Given the description of an element on the screen output the (x, y) to click on. 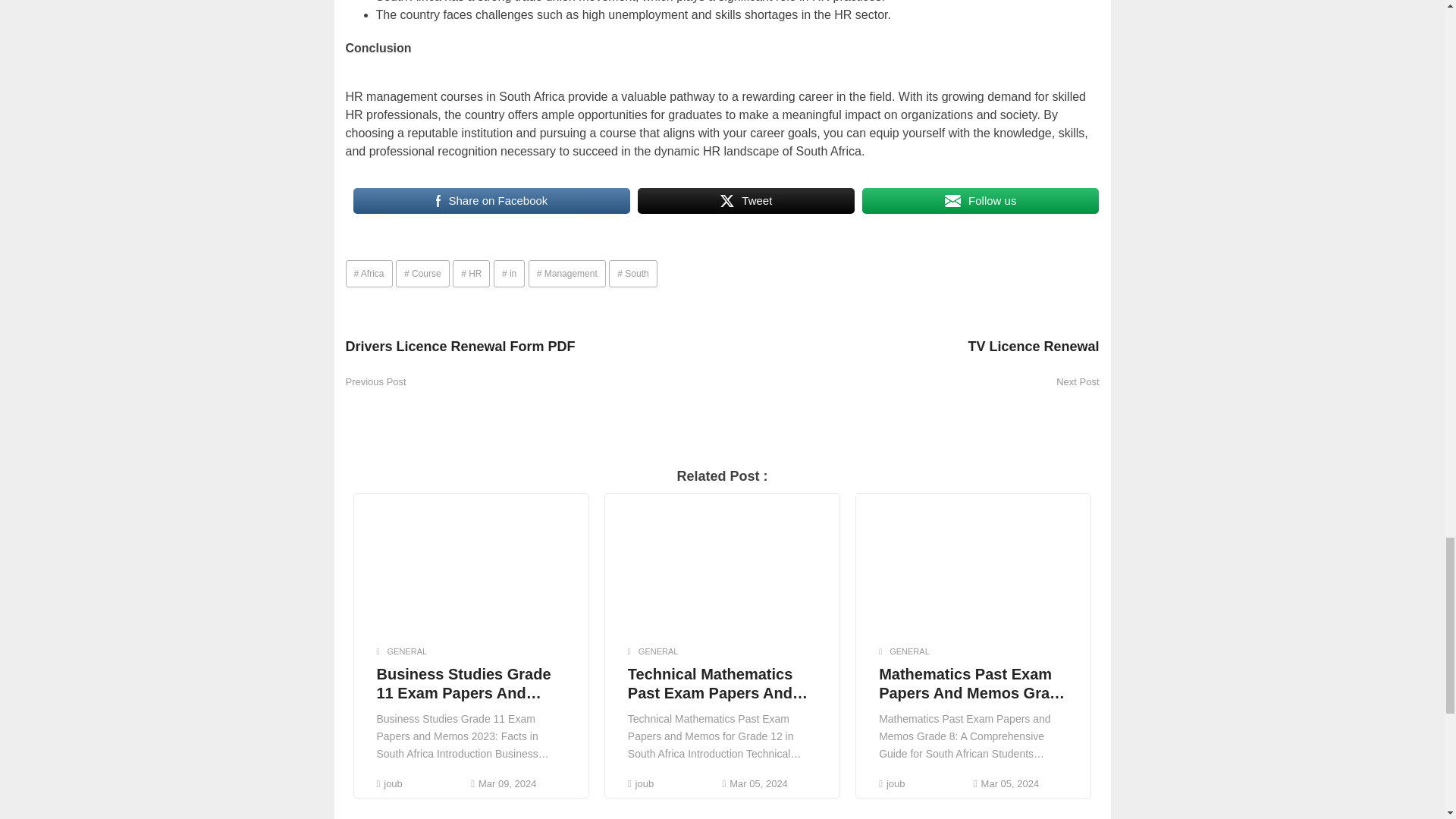
Share on Facebook (491, 200)
Drivers Licence Renewal Form PDF (534, 354)
Tweet (745, 200)
Follow us (980, 200)
TV Licence Renewal (910, 354)
